Given the description of an element on the screen output the (x, y) to click on. 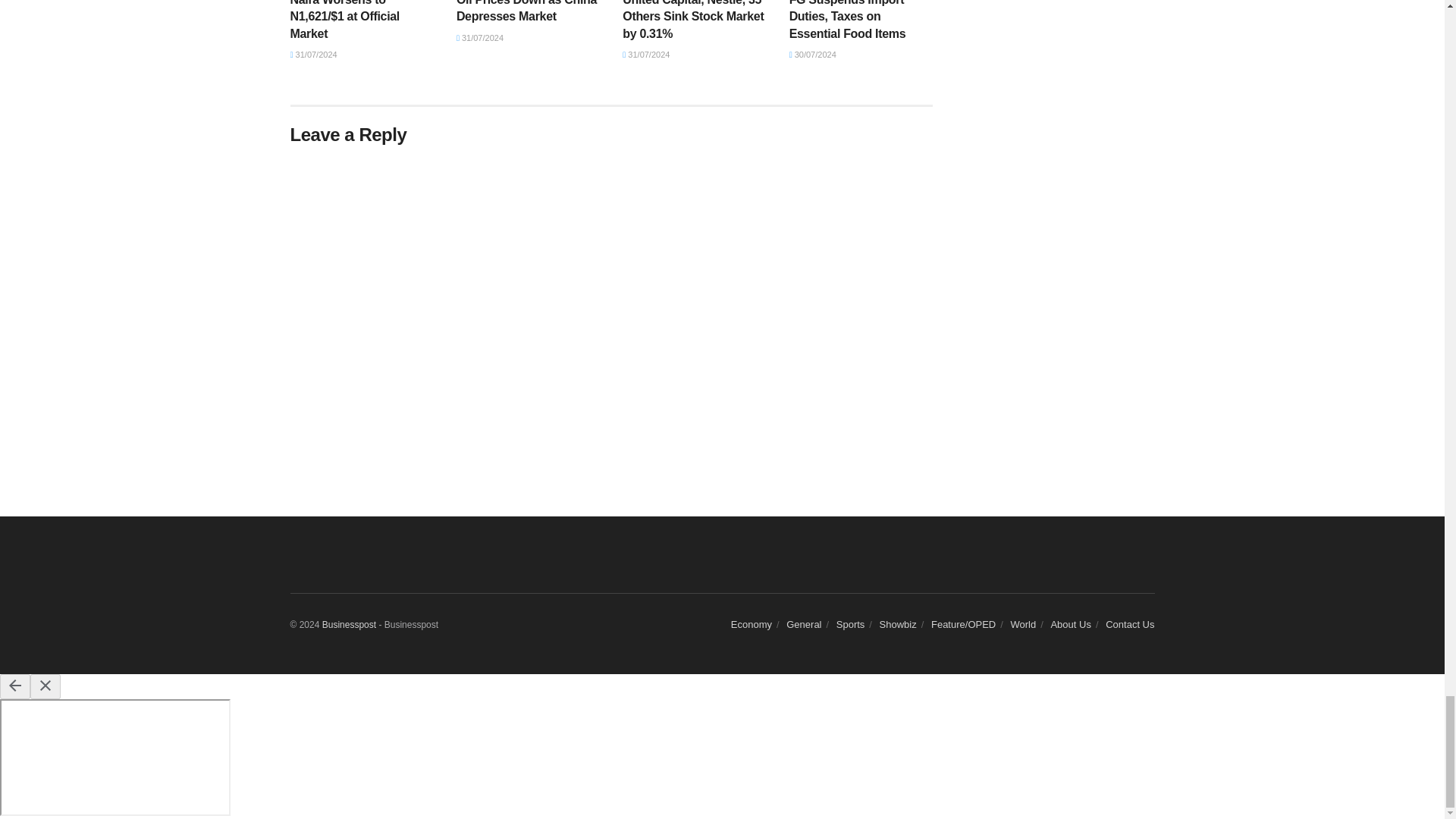
Businesspost (348, 624)
